Given the description of an element on the screen output the (x, y) to click on. 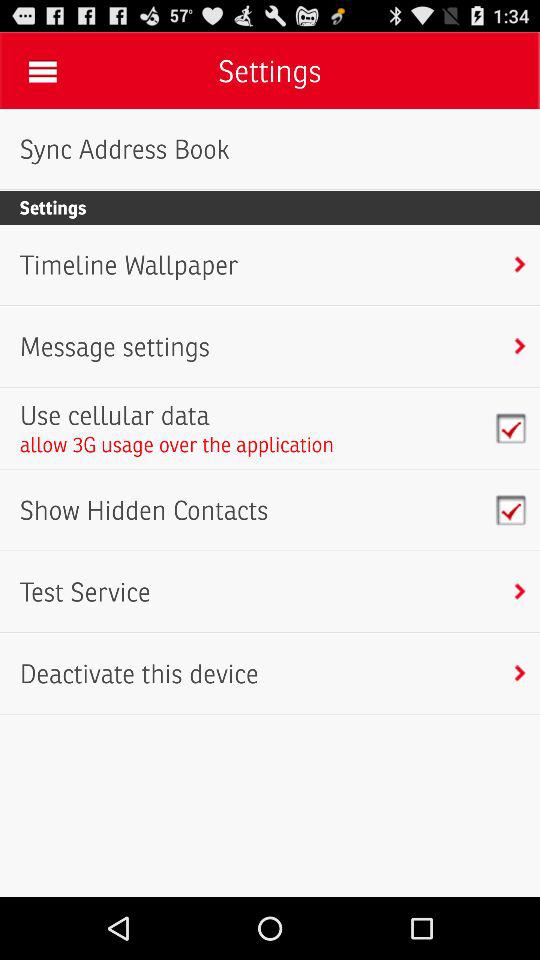
launch the item at the bottom left corner (138, 673)
